Given the description of an element on the screen output the (x, y) to click on. 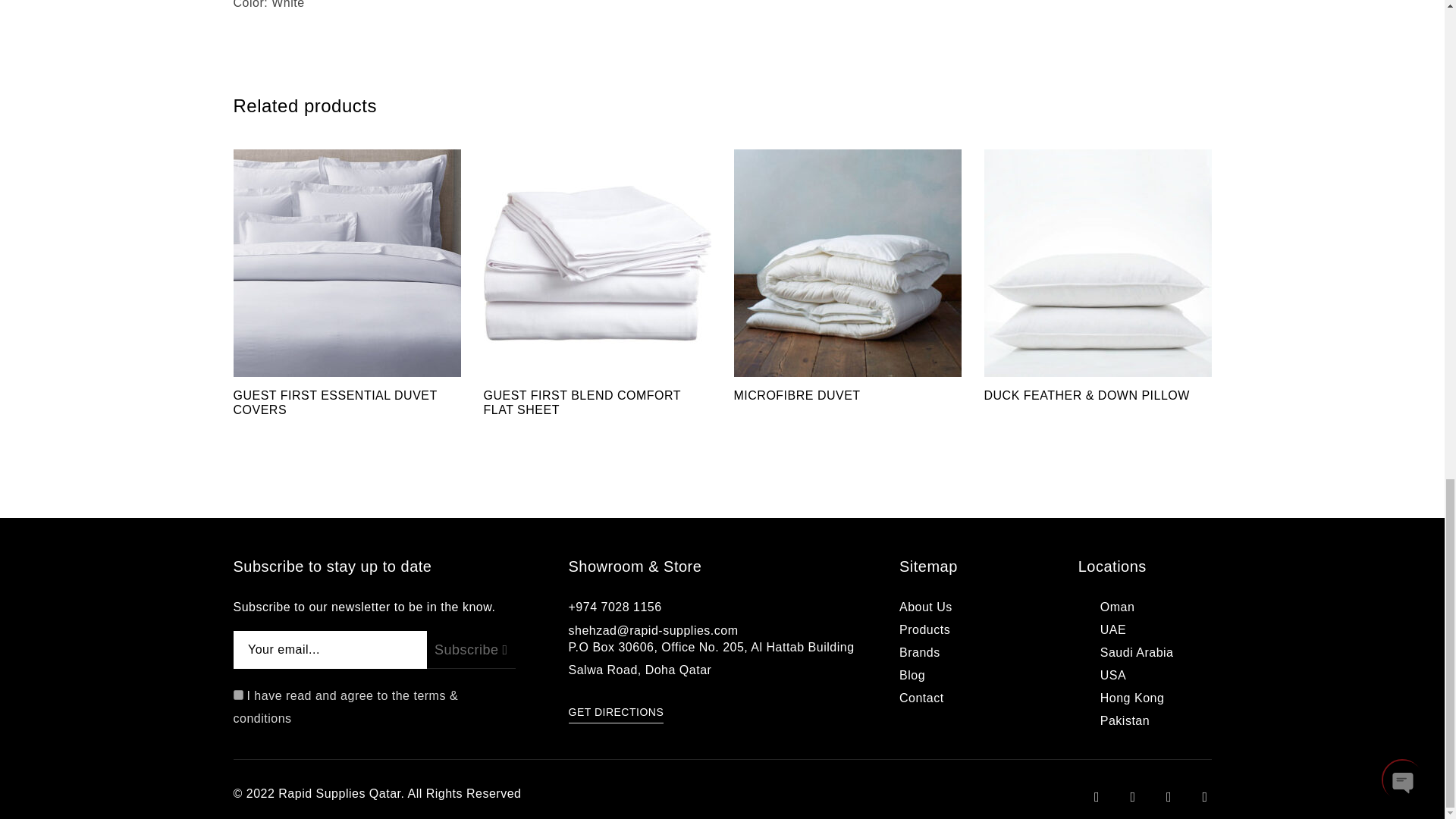
1 (237, 695)
